Given the description of an element on the screen output the (x, y) to click on. 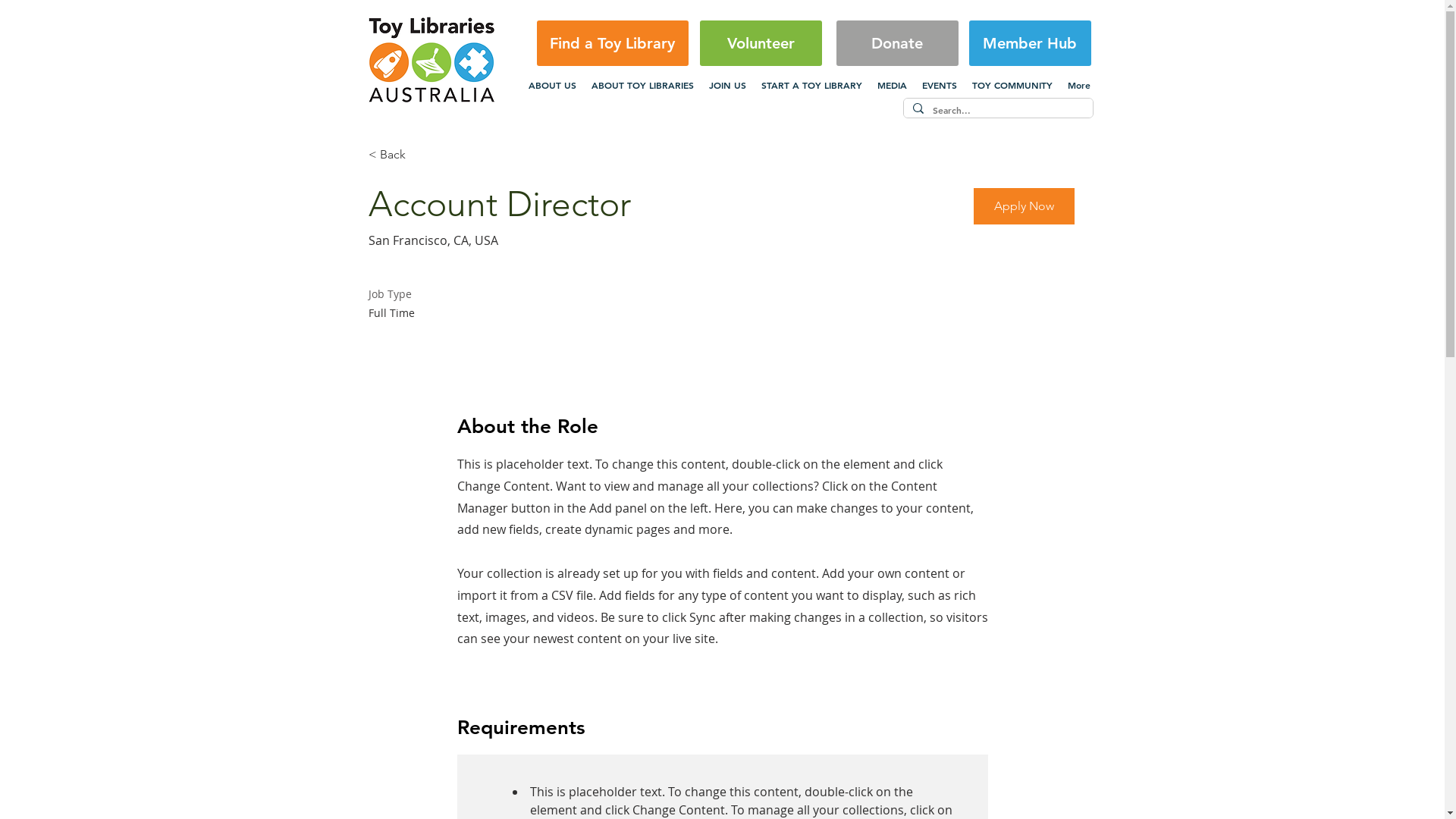
JOIN US Element type: text (726, 84)
MEDIA Element type: text (891, 84)
ABOUT TOY LIBRARIES Element type: text (642, 84)
EVENTS Element type: text (939, 84)
START A TOY LIBRARY Element type: text (811, 84)
< Back Element type: text (422, 154)
TOY COMMUNITY Element type: text (1012, 84)
ABOUT US Element type: text (551, 84)
